Given the description of an element on the screen output the (x, y) to click on. 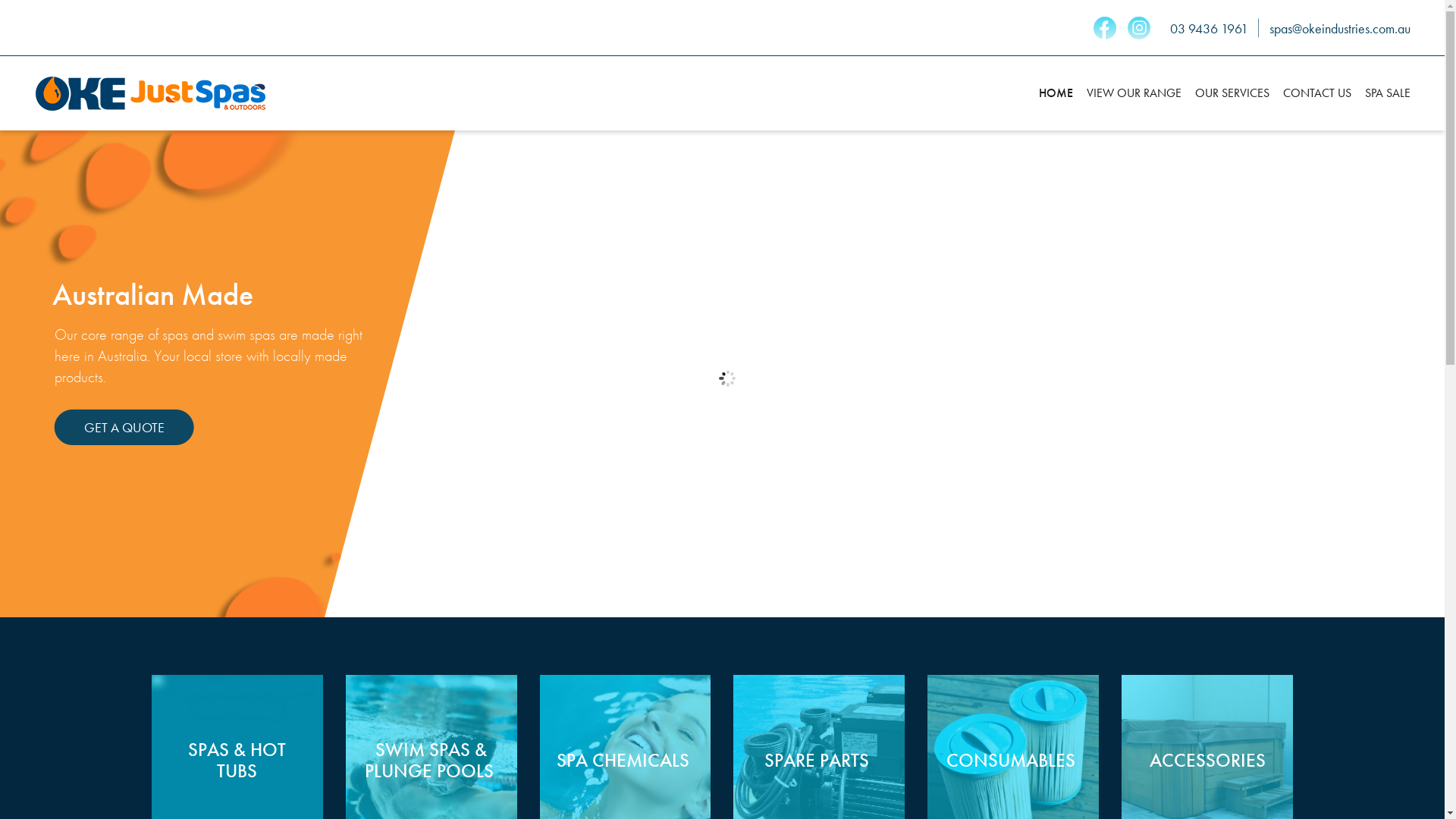
SPA CHEMICALS  Element type: text (624, 760)
SPAS & HOT TUBS Element type: text (236, 760)
HOME Element type: text (1055, 93)
spas@okeindustries.com.au Element type: text (1339, 28)
CONSUMABLES  Element type: text (1012, 760)
VIEW OUR RANGE Element type: text (1133, 93)
CONTACT US Element type: text (1317, 93)
GET A QUOTE Element type: text (124, 427)
SPA SALE Element type: text (1384, 93)
SWIM SPAS &
PLUNGE POOLS  Element type: text (431, 760)
03 9436 1961 Element type: text (1209, 28)
ACCESSORIES Element type: text (1207, 760)
SPARE PARTS  Element type: text (818, 760)
